Given the description of an element on the screen output the (x, y) to click on. 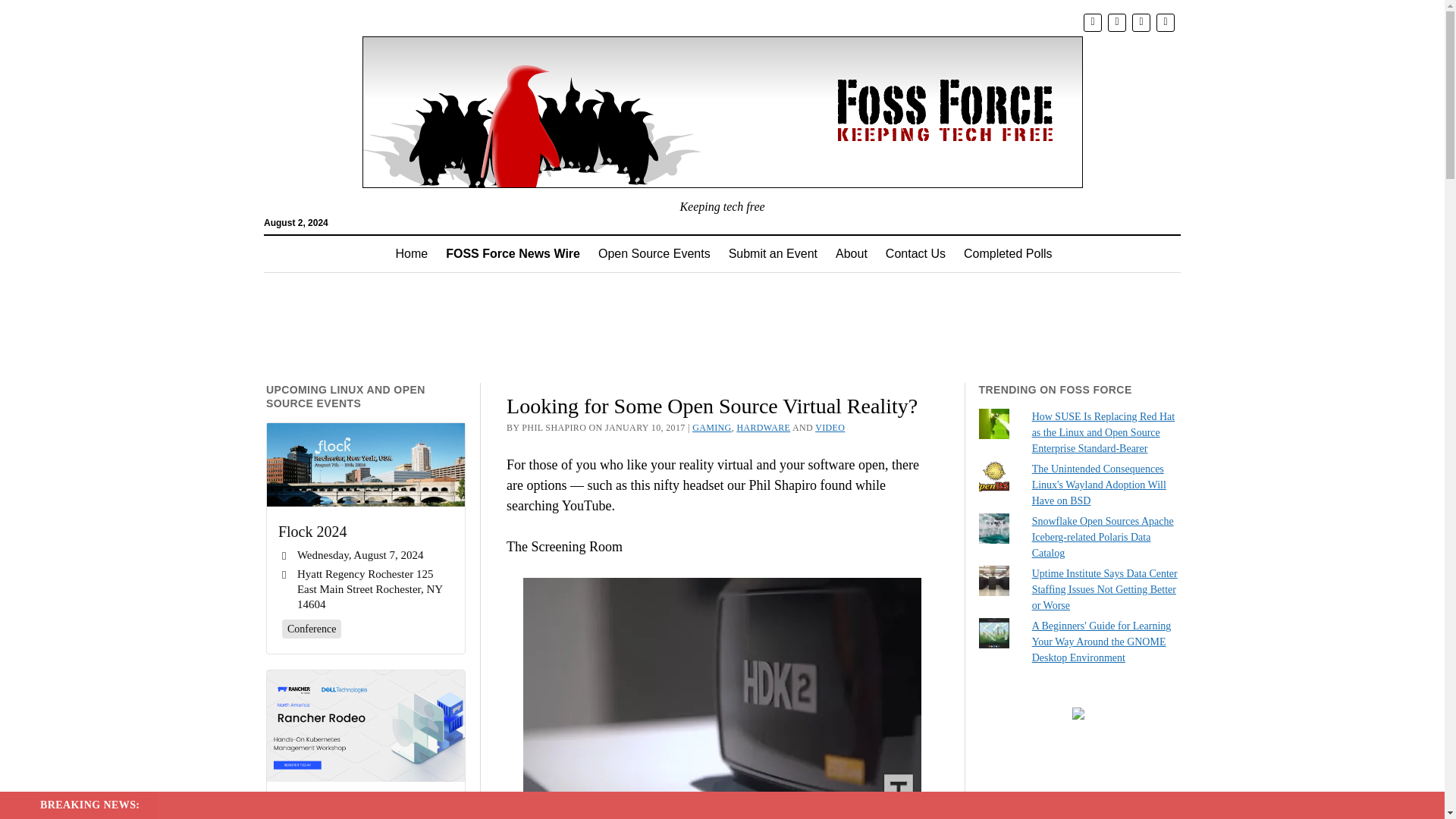
Home (412, 253)
Completed Polls (1008, 253)
Rancher Rodeo Hands-On Kubernetes Workshop (366, 808)
Open Source Events (654, 253)
Submit an Event (773, 253)
FOSS Force News Wire (512, 253)
Flock 2024 (365, 464)
About (851, 253)
Rancher Rodeo Hands-On Kubernetes Workshop (365, 726)
Conference (312, 627)
Flock 2024 (366, 531)
Contact Us (915, 253)
